Given the description of an element on the screen output the (x, y) to click on. 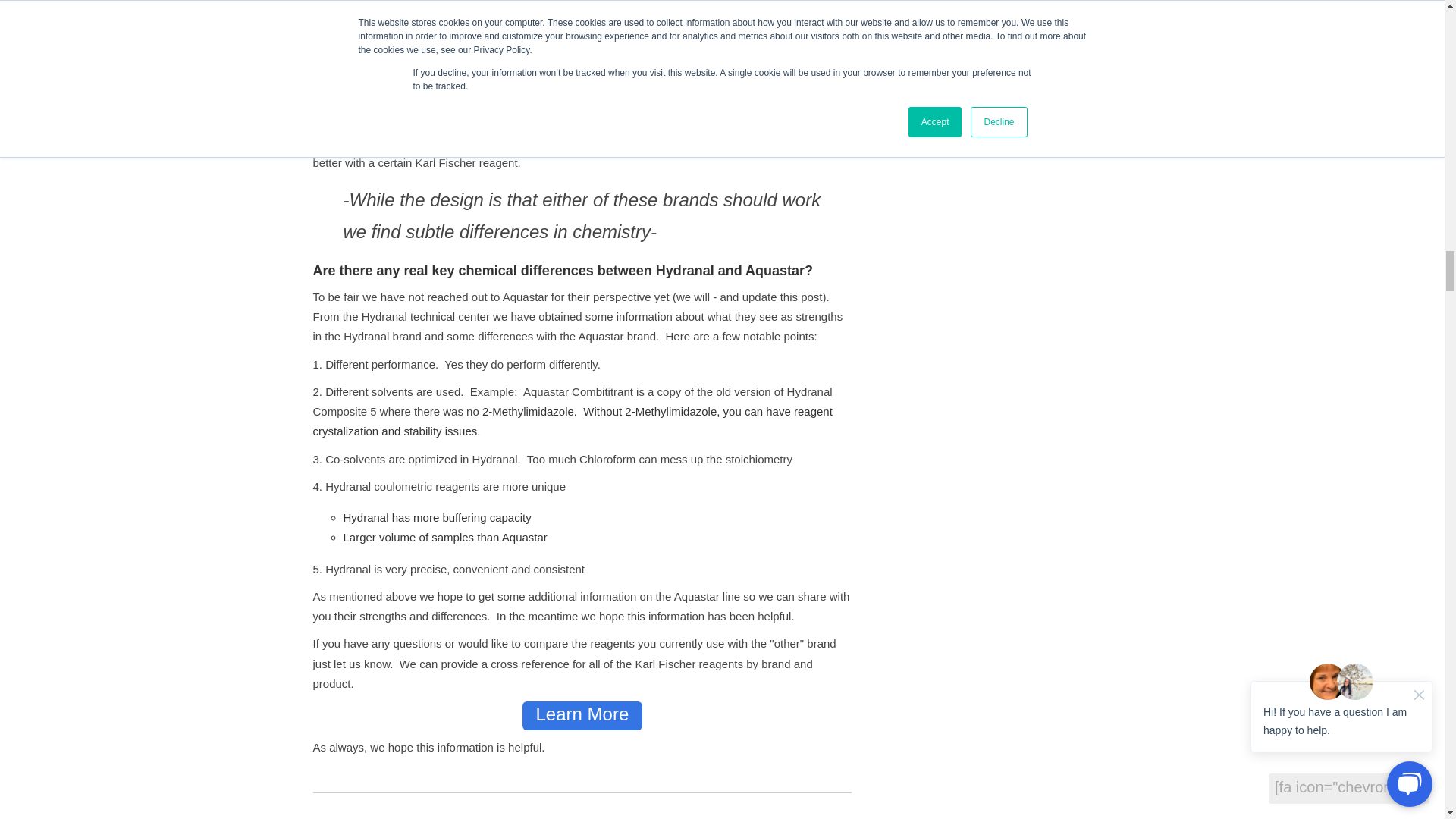
Learn More (582, 715)
